Given the description of an element on the screen output the (x, y) to click on. 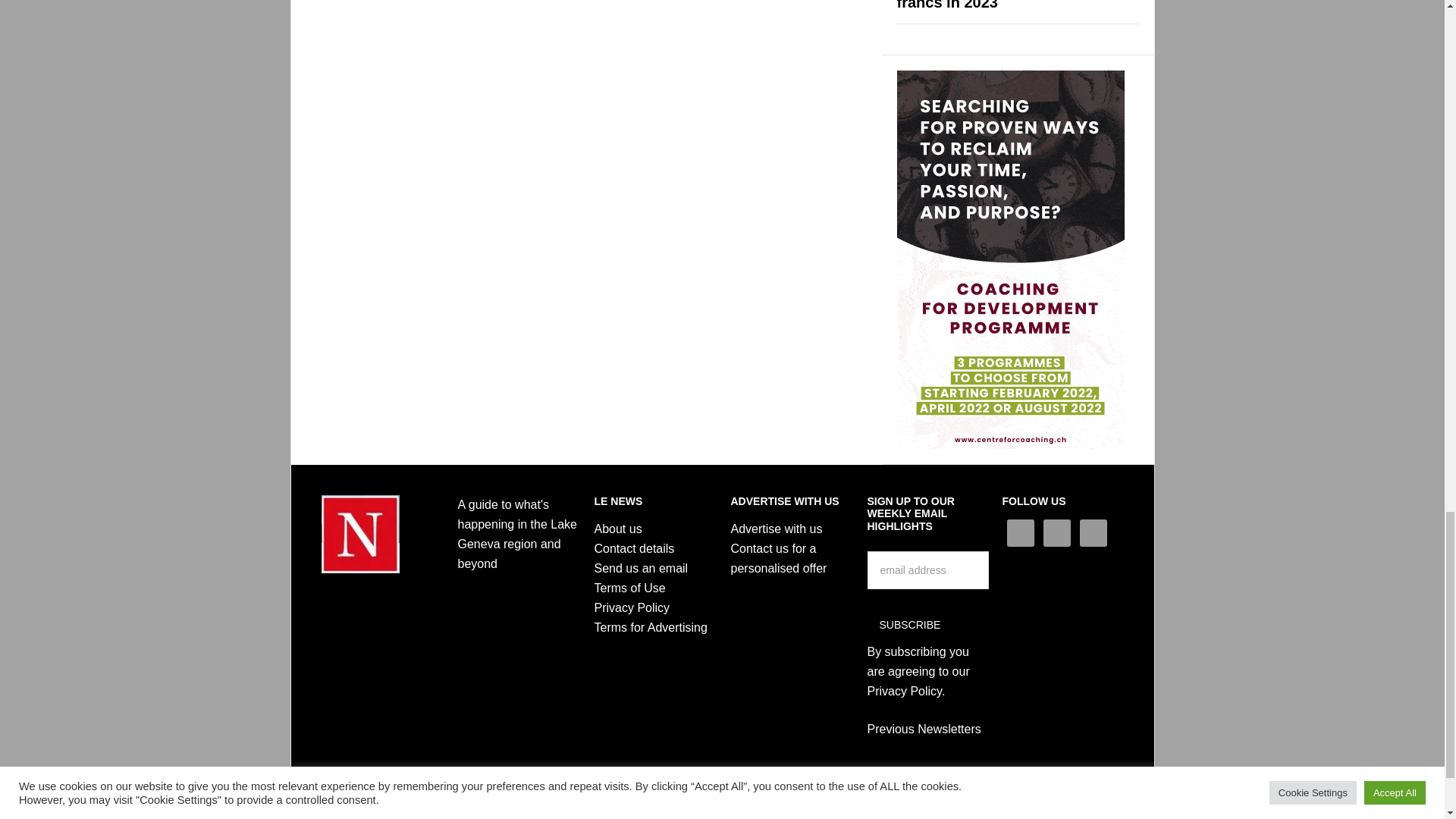
Subscribe (910, 624)
Terms and Conditions (629, 587)
CONTACT (634, 548)
Privacy Policy (631, 607)
Advertising Terms and Conditions (650, 626)
Previous Newsletters (924, 728)
ABOUT US (618, 528)
